Given the description of an element on the screen output the (x, y) to click on. 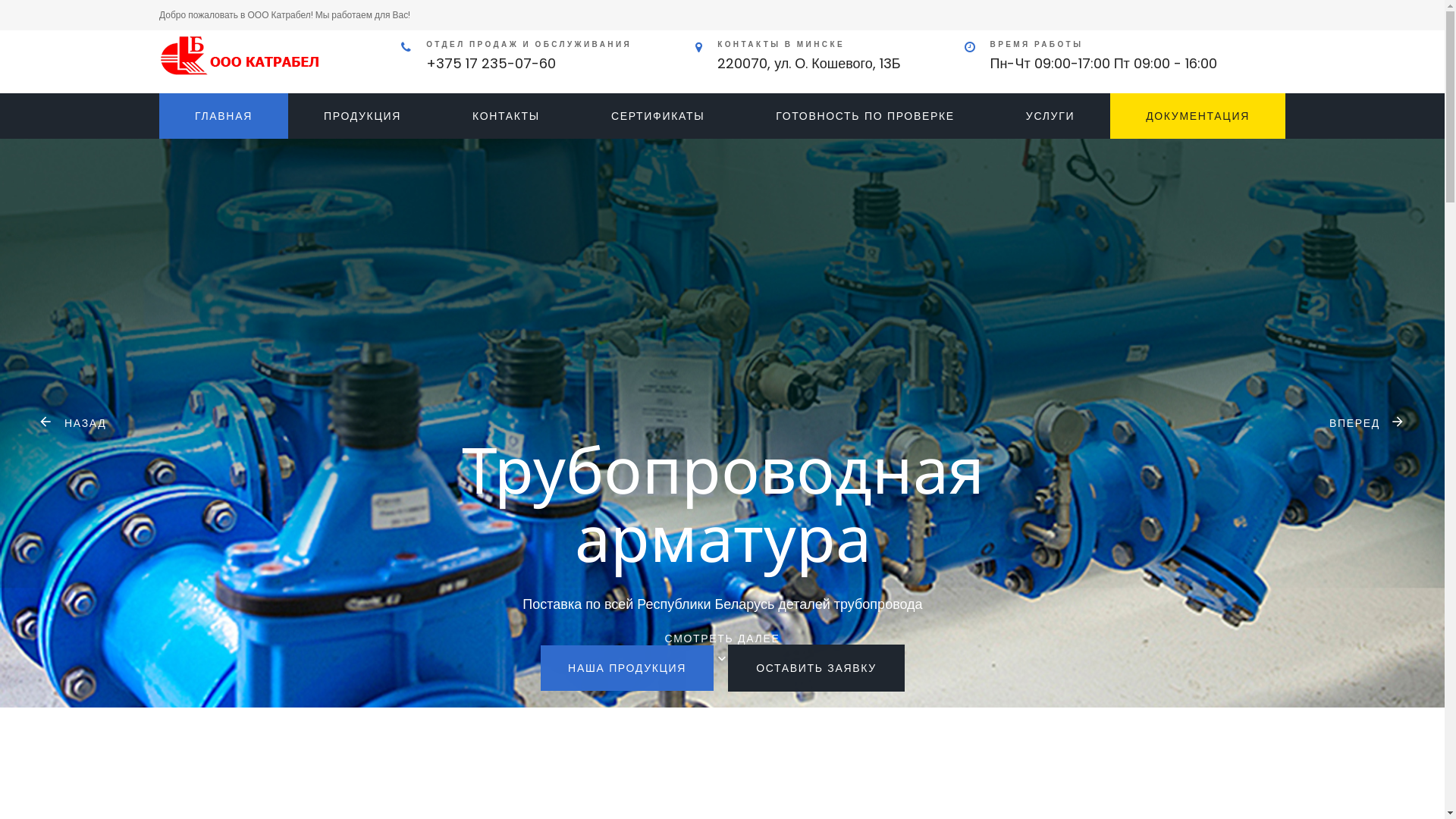
+375 17 235-07-60 Element type: text (490, 62)
